Given the description of an element on the screen output the (x, y) to click on. 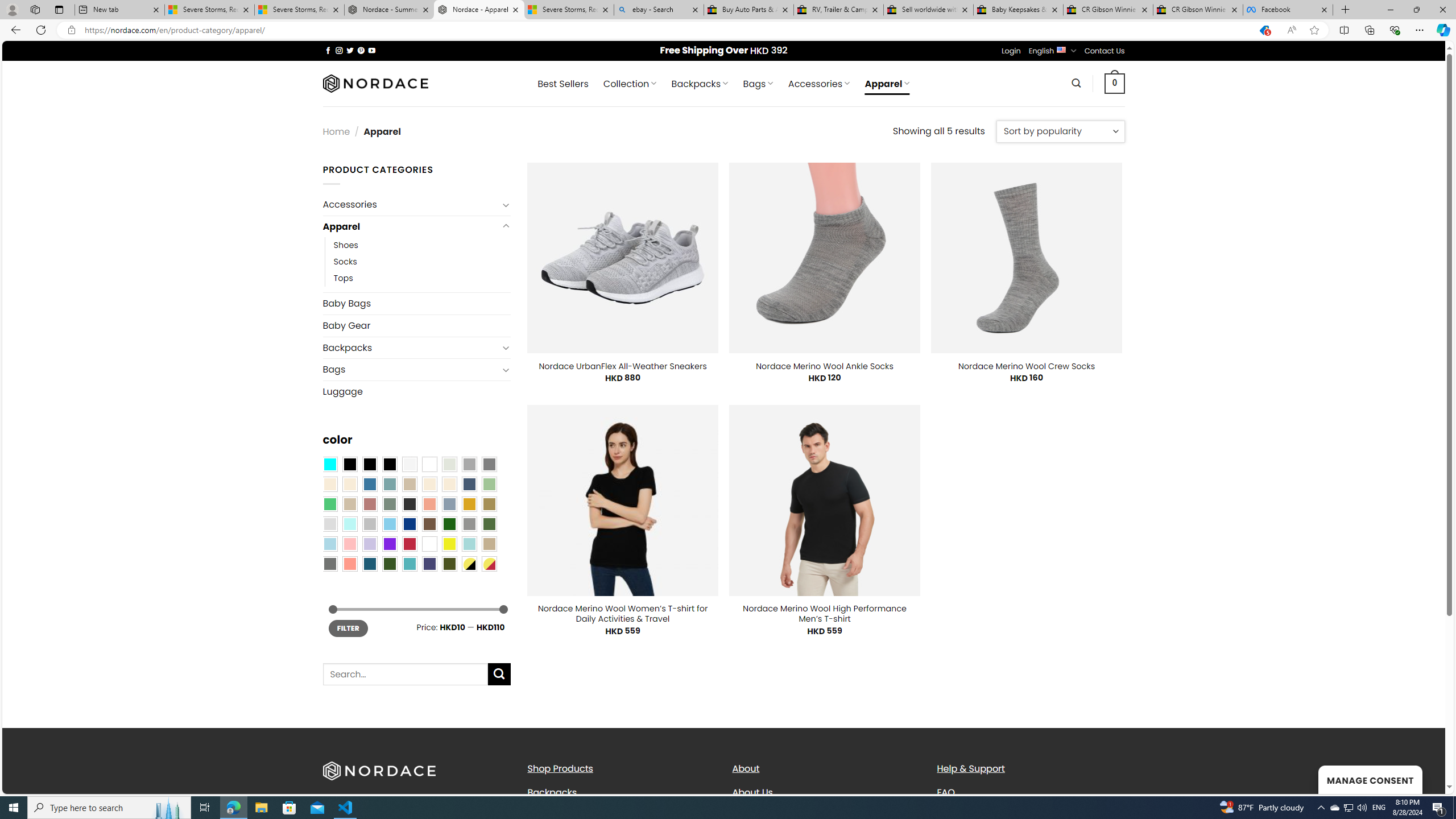
Search for: (404, 674)
This site has coupons! Shopping in Microsoft Edge, 5 (1263, 29)
RV, Trailer & Camper Steps & Ladders for sale | eBay (838, 9)
Nordace Merino Wool Crew Socks (1026, 365)
Rose (369, 503)
Socks (344, 262)
Cream (449, 483)
Luggage (416, 391)
Baby Bags (416, 303)
Nordace UrbanFlex All-Weather Sneakers (622, 365)
Dusty Blue (449, 503)
